Given the description of an element on the screen output the (x, y) to click on. 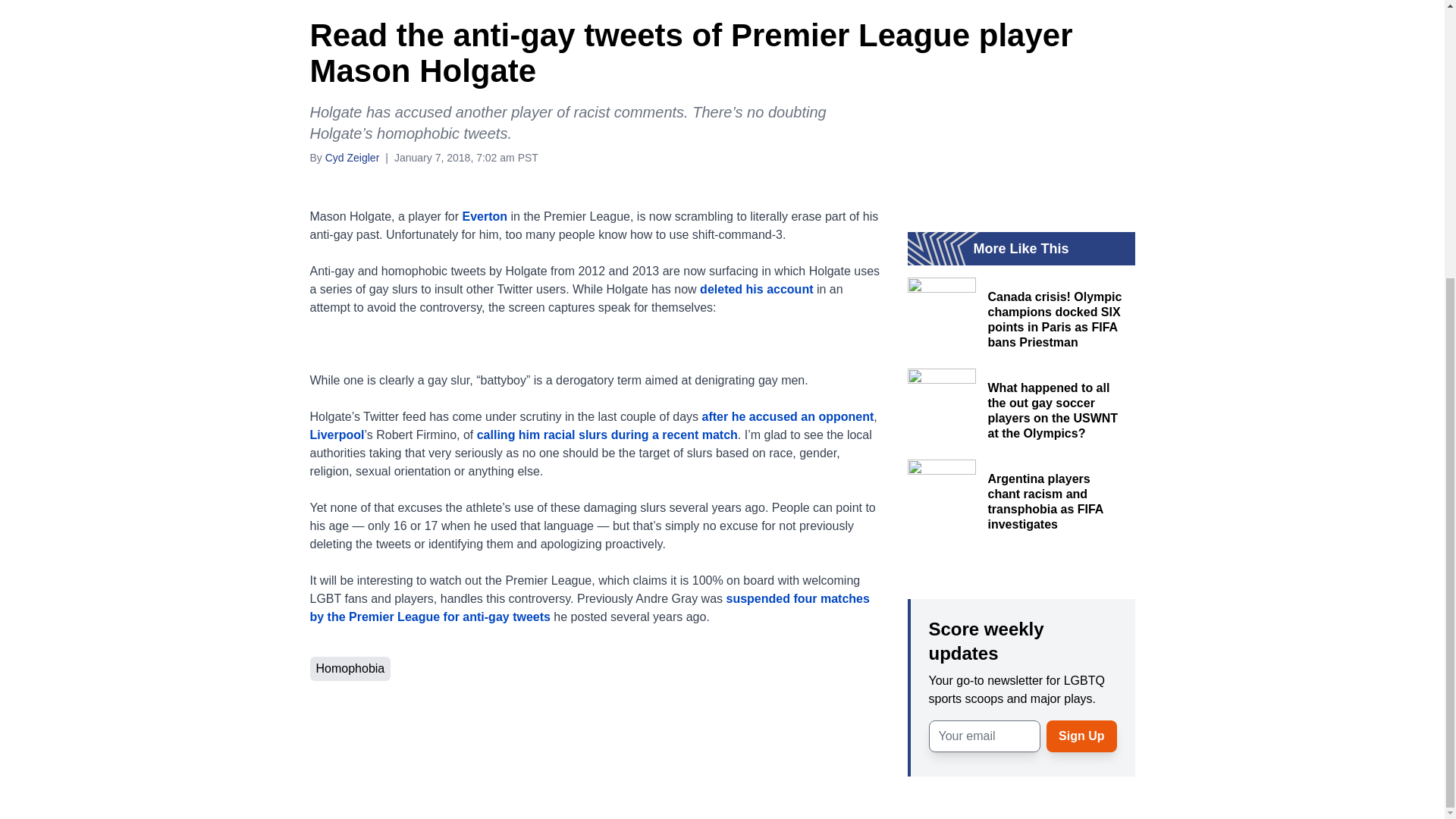
after he accused an opponent (788, 416)
Sign Up (1081, 735)
Liverpool (336, 434)
calling him racial slurs during a recent match (607, 434)
deleted his account (756, 288)
Everton (485, 215)
Cyd Zeigler (352, 156)
Homophobia (349, 668)
